Given the description of an element on the screen output the (x, y) to click on. 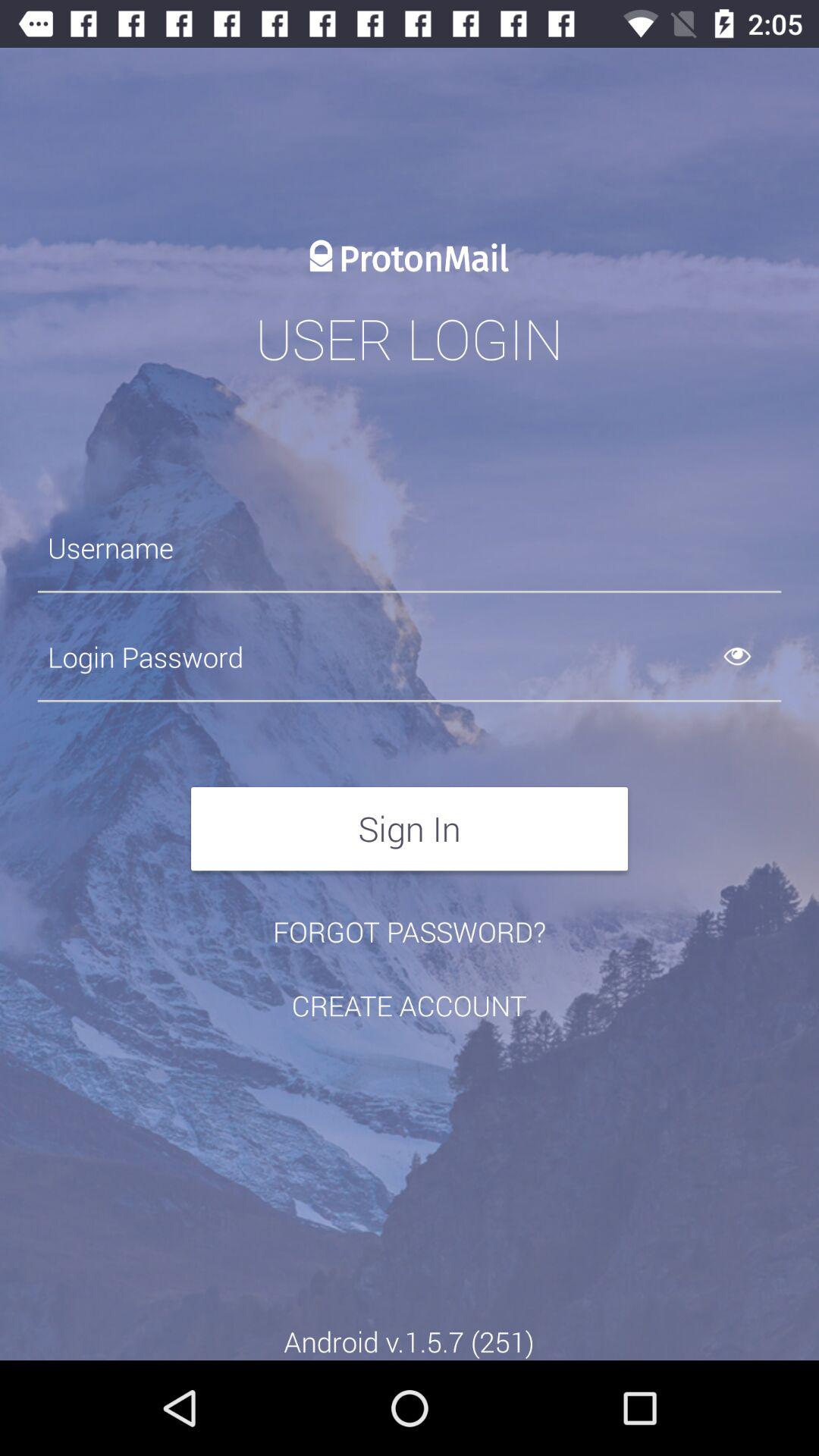
choose the icon below user login item (409, 547)
